Given the description of an element on the screen output the (x, y) to click on. 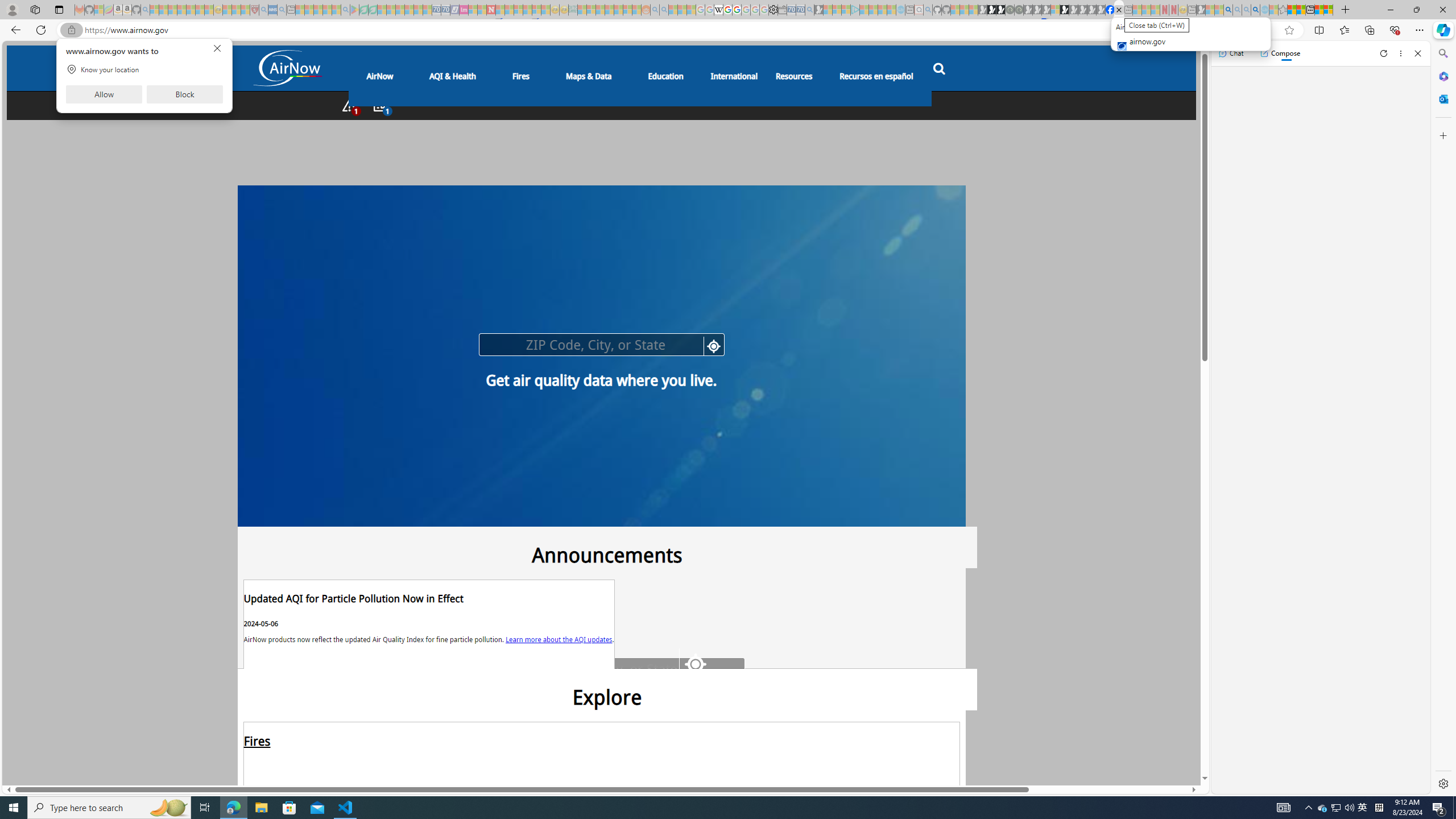
ZIP Code, City, or State (617, 668)
Get Current and Forecast Air Quality for Your Area (662, 105)
Nordace | Facebook (1109, 9)
AutomationID: nav-announcements-toggle (379, 105)
Target page - Wikipedia (718, 9)
